Given the description of an element on the screen output the (x, y) to click on. 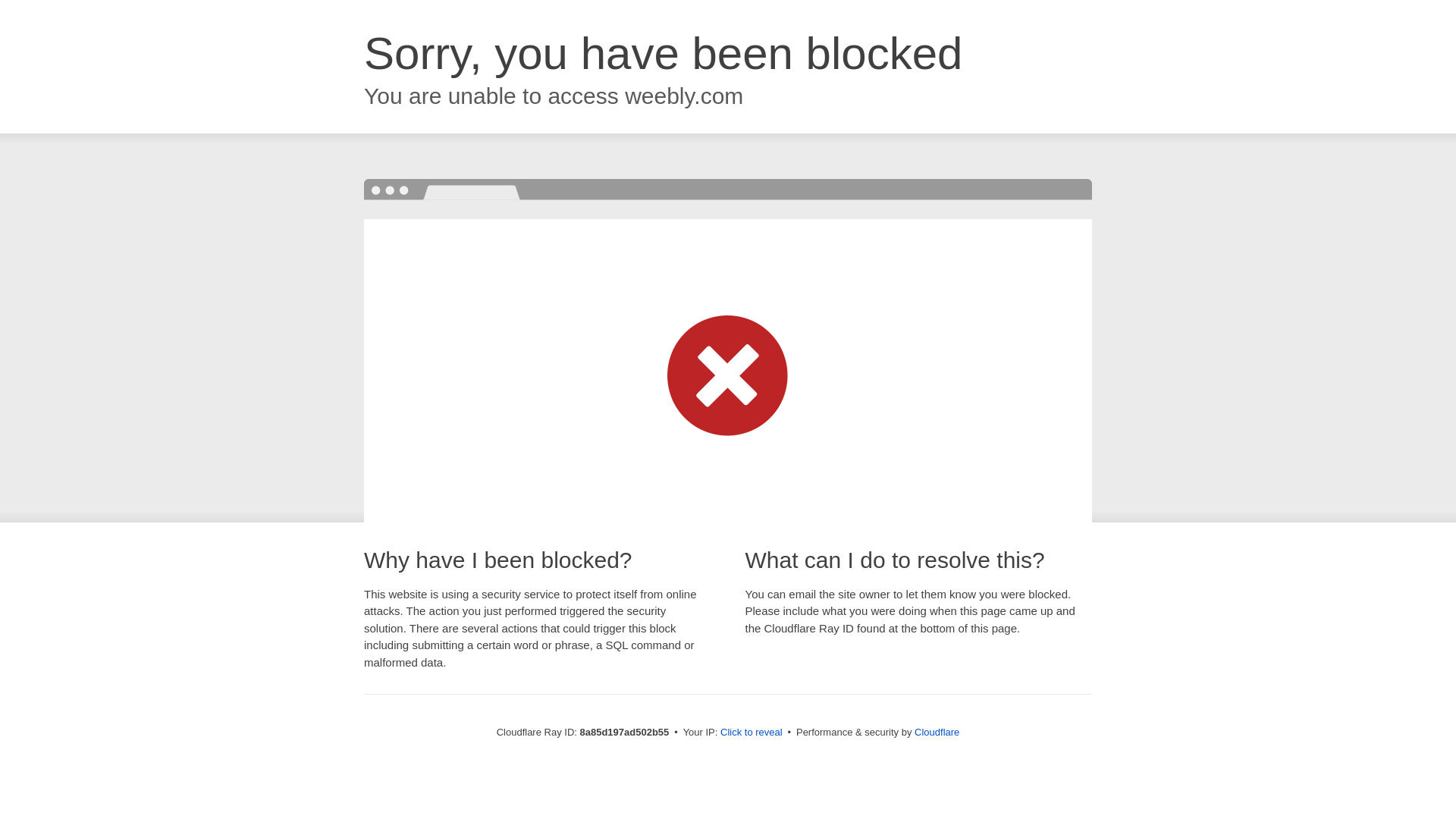
Cloudflare (936, 731)
Click to reveal (751, 732)
